Given the description of an element on the screen output the (x, y) to click on. 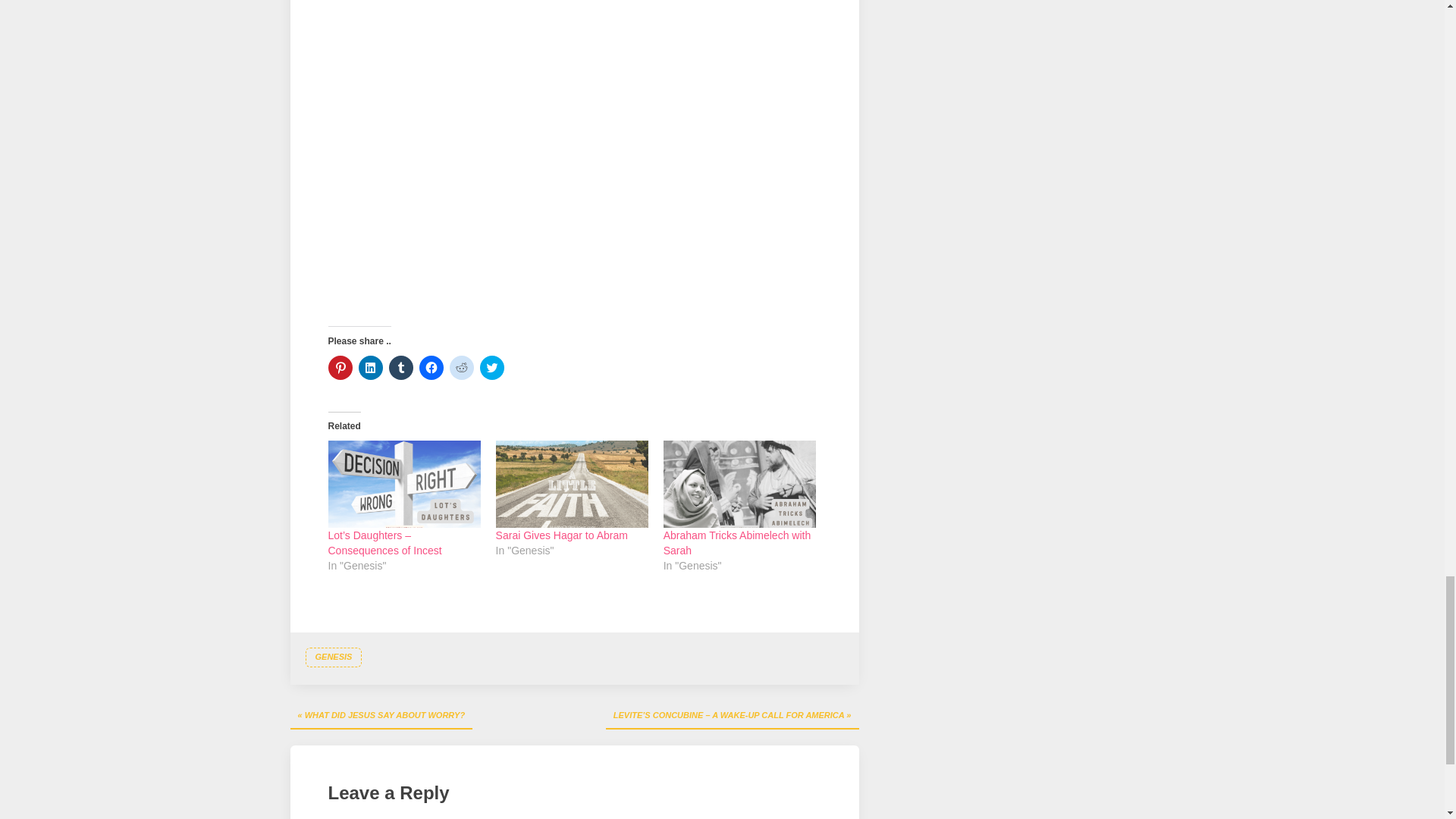
Sarai Gives Hagar to Abram (561, 535)
Abraham Tricks Abimelech with Sarah (736, 542)
Sarai Gives Hagar to Abram (571, 483)
Click to share on Reddit (460, 367)
Click to share on Twitter (491, 367)
Click to share on Pinterest (339, 367)
Click to share on Tumblr (400, 367)
WHAT DID JESUS SAY ABOUT WORRY? (380, 716)
GENESIS (332, 657)
Click to share on Facebook (430, 367)
